Given the description of an element on the screen output the (x, y) to click on. 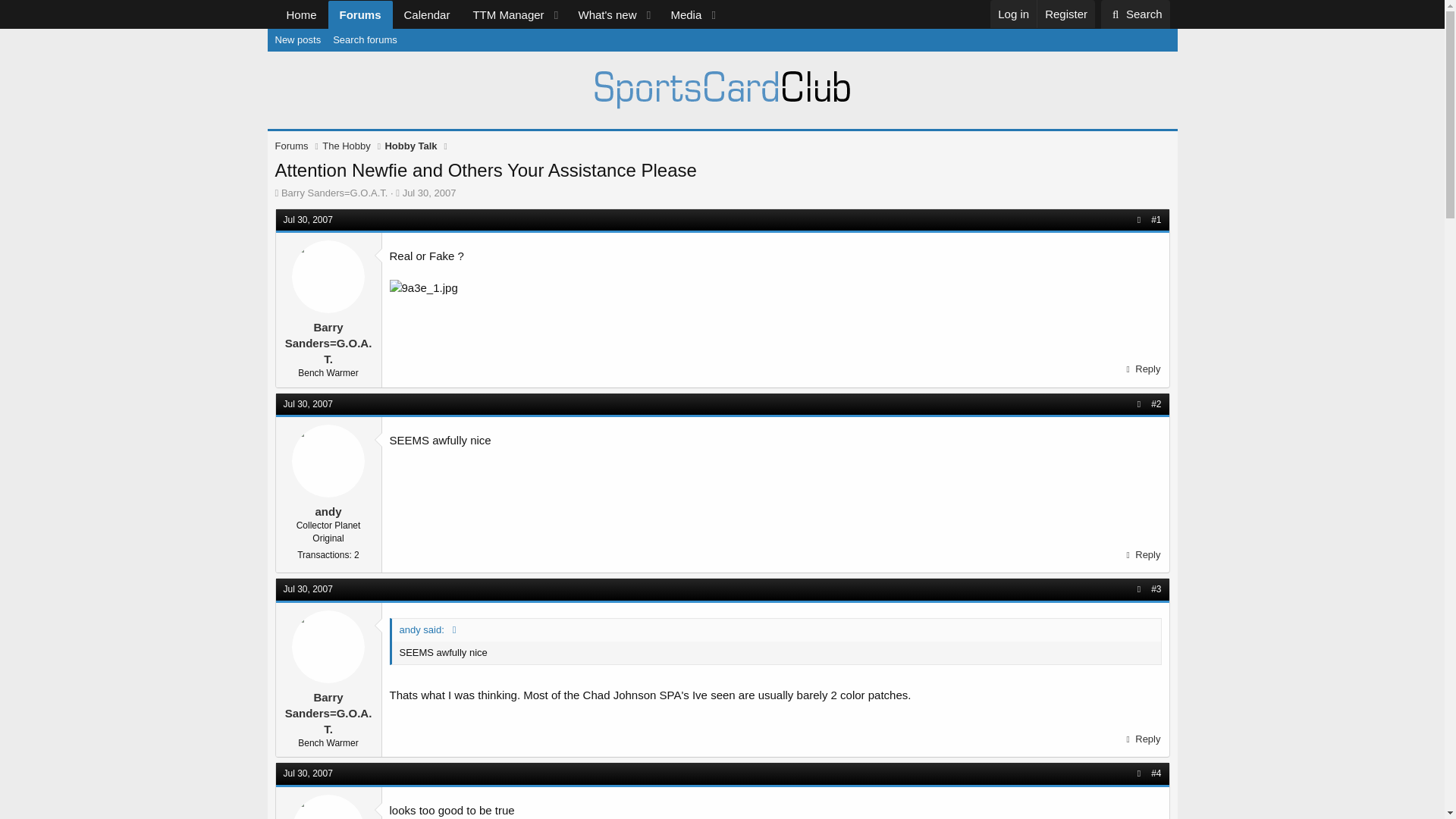
TTM Manager (502, 14)
New posts (296, 39)
Reply, quoting this message (1141, 369)
Media (681, 14)
Home (301, 14)
Register (1065, 13)
Jul 30, 2007 at 10:50 PM (308, 403)
Calendar (427, 14)
Search forums (499, 14)
